Given the description of an element on the screen output the (x, y) to click on. 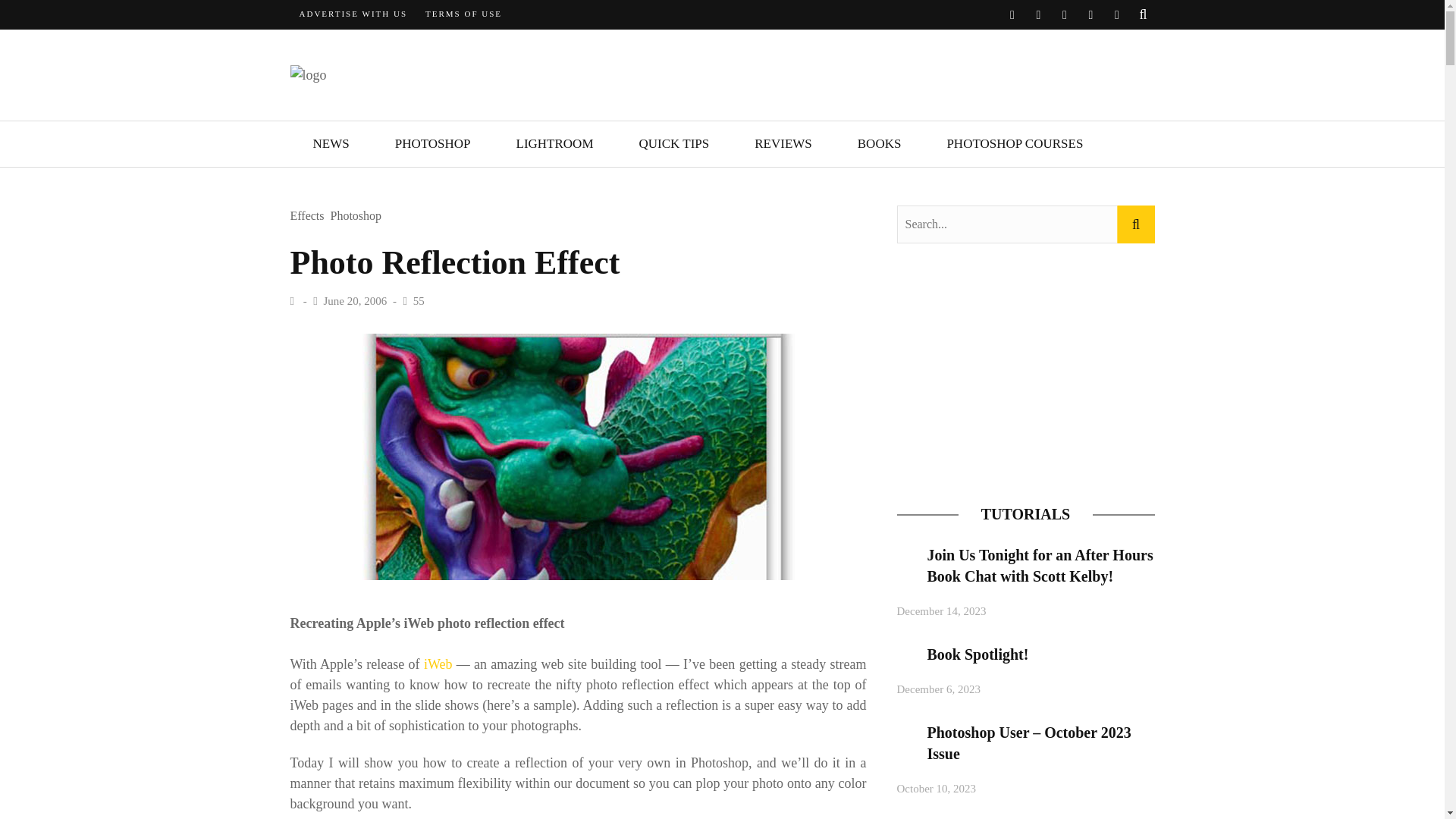
LIGHTROOM (554, 144)
55 (419, 300)
Photoshop (355, 216)
NEWS (330, 144)
TERMS OF USE (463, 13)
PHOTOSHOP (432, 144)
REVIEWS (783, 144)
QUICK TIPS (673, 144)
BOOKS (879, 144)
PHOTOSHOP COURSES (1014, 144)
